Given the description of an element on the screen output the (x, y) to click on. 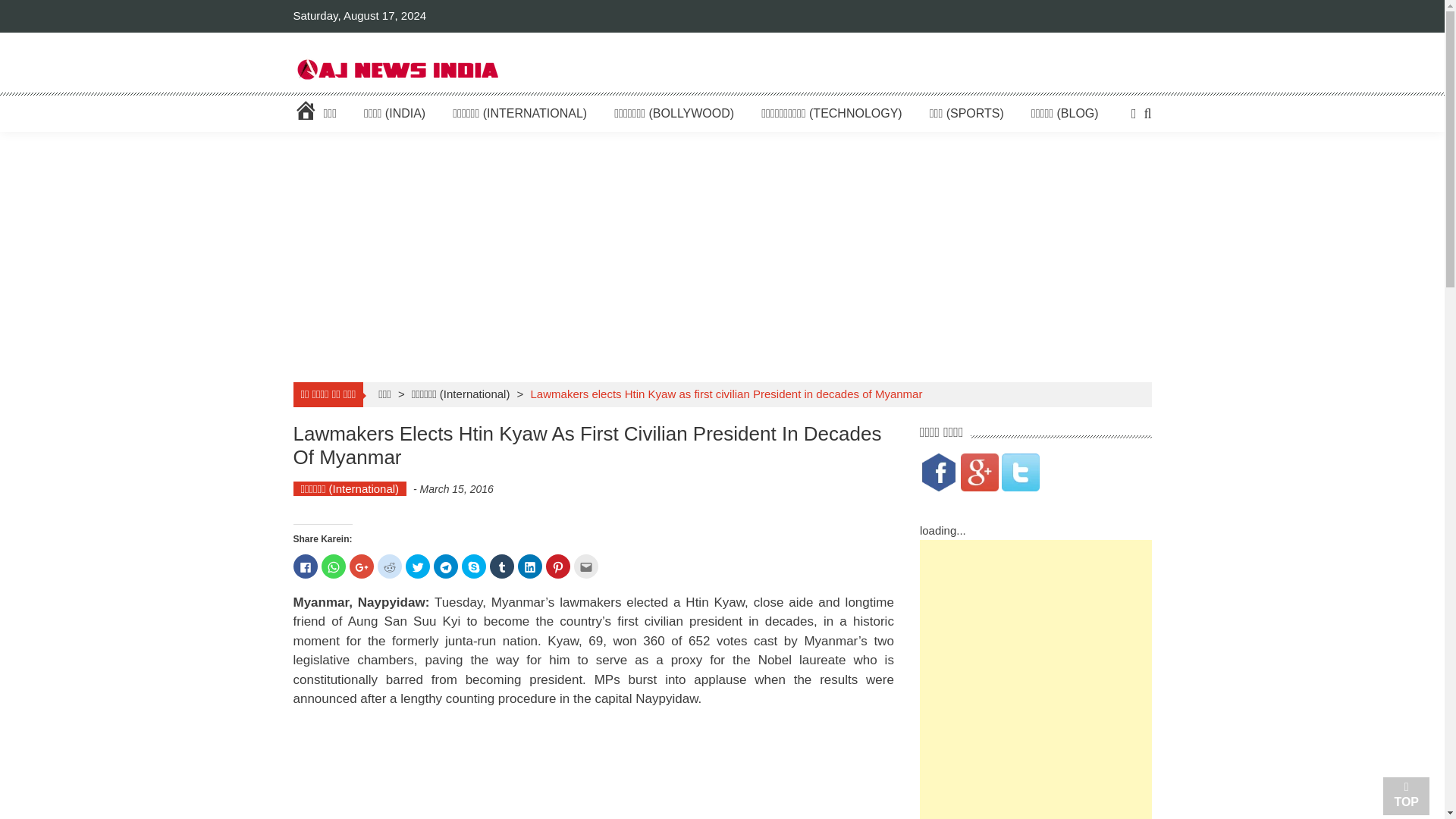
Click to share on Twitter (416, 566)
Click to share on Pinterest (558, 566)
Click to share on Tumblr (501, 566)
Click to share on Telegram (445, 566)
Click to share on LinkedIn (528, 566)
Aaj News India (396, 67)
Click to share on Reddit (389, 566)
Click to share on WhatsApp (333, 566)
Click to email this to a friend (584, 566)
Share on Skype (472, 566)
